Given the description of an element on the screen output the (x, y) to click on. 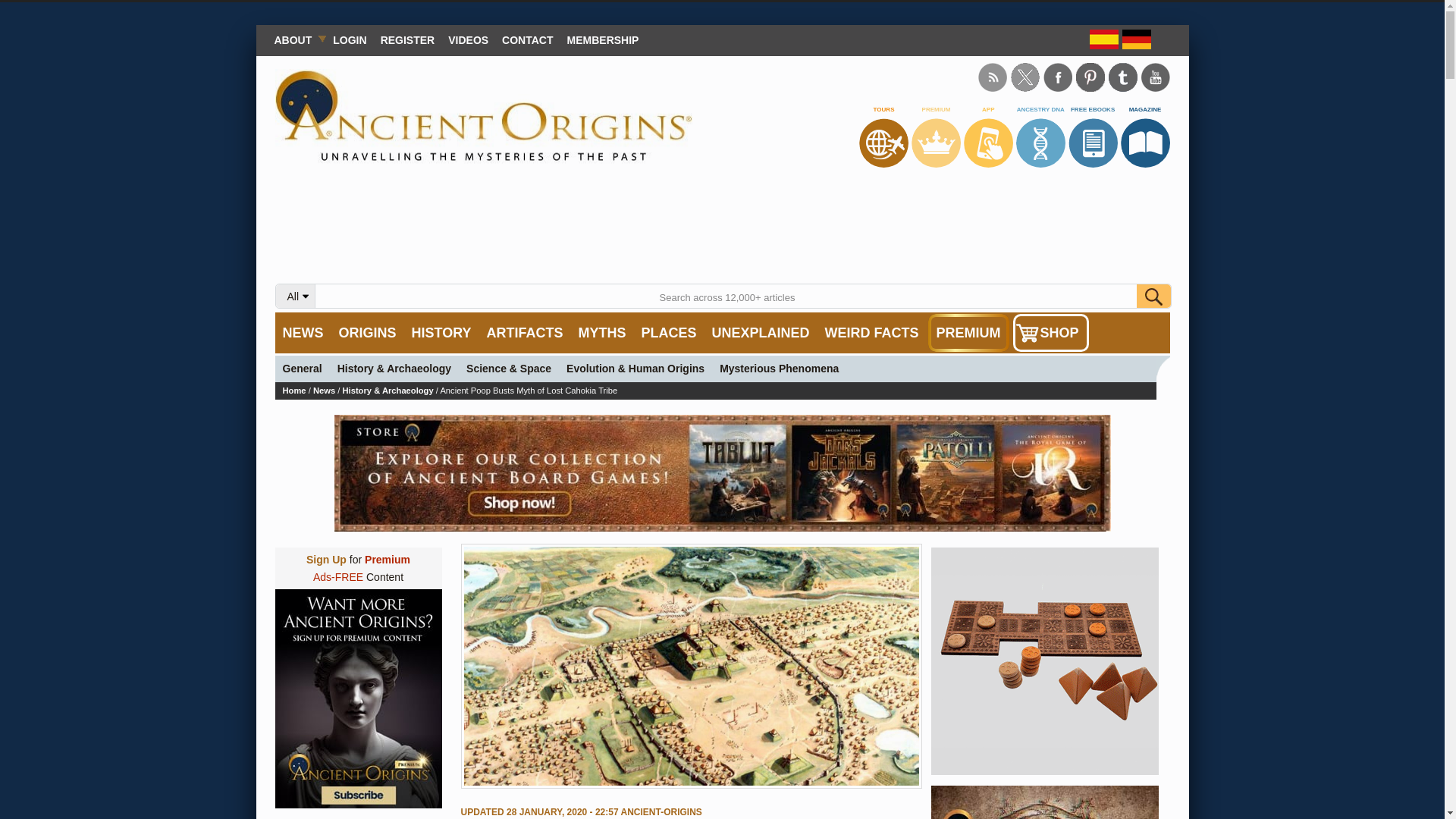
Login (349, 40)
CONTACT (526, 40)
ABOUT (296, 40)
MEMBERSHIP (603, 40)
REGISTER (408, 40)
VIDEOS (468, 40)
Our Mission (296, 40)
Video Gallery (468, 40)
LOGIN (349, 40)
Become a registered user (408, 40)
Find (1152, 295)
Contact us (526, 40)
